Given the description of an element on the screen output the (x, y) to click on. 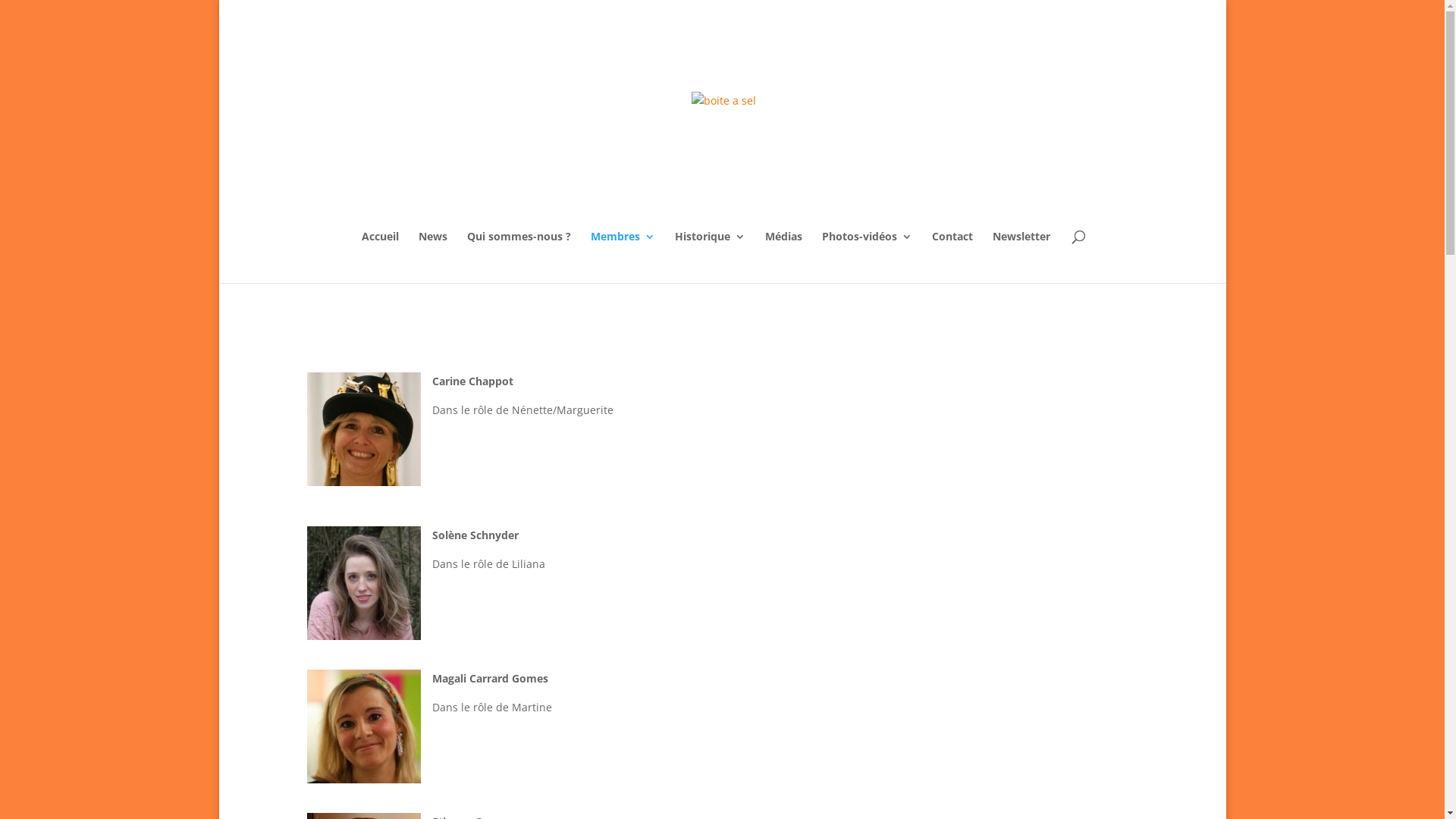
Newsletter Element type: text (1020, 256)
News Element type: text (432, 256)
Qui sommes-nous ? Element type: text (519, 256)
Accueil Element type: text (379, 256)
Historique Element type: text (709, 256)
Contact Element type: text (951, 256)
Membres Element type: text (621, 256)
